Given the description of an element on the screen output the (x, y) to click on. 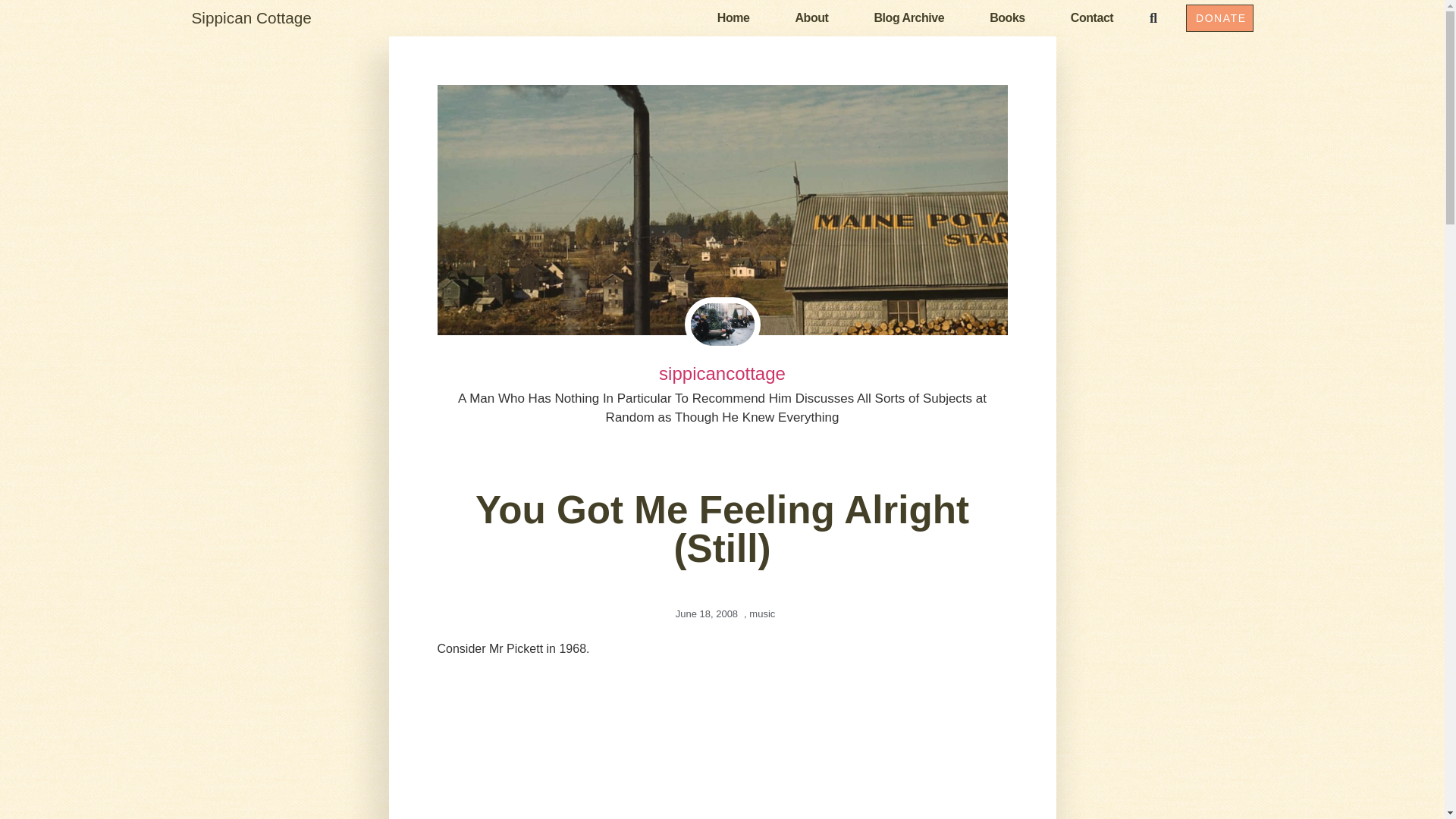
Contact (1091, 17)
June 18, 2008 (703, 613)
DONATE (1219, 17)
Books (1006, 17)
Blog Archive (909, 17)
music (761, 613)
sippicancottage (721, 373)
Home (733, 17)
Sippican Cottage (250, 17)
About (811, 17)
